Given the description of an element on the screen output the (x, y) to click on. 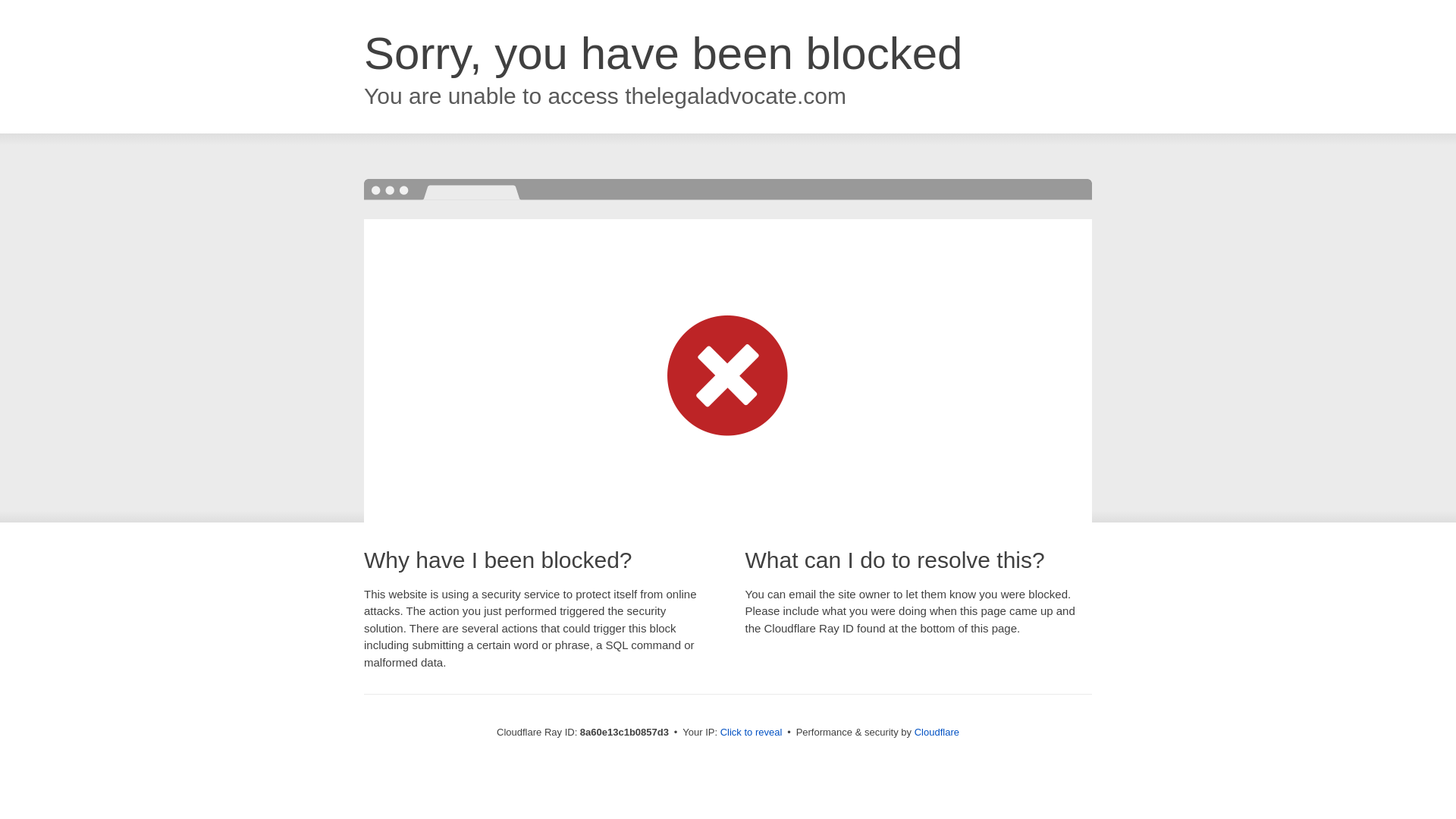
Click to reveal (751, 732)
Cloudflare (936, 731)
